Given the description of an element on the screen output the (x, y) to click on. 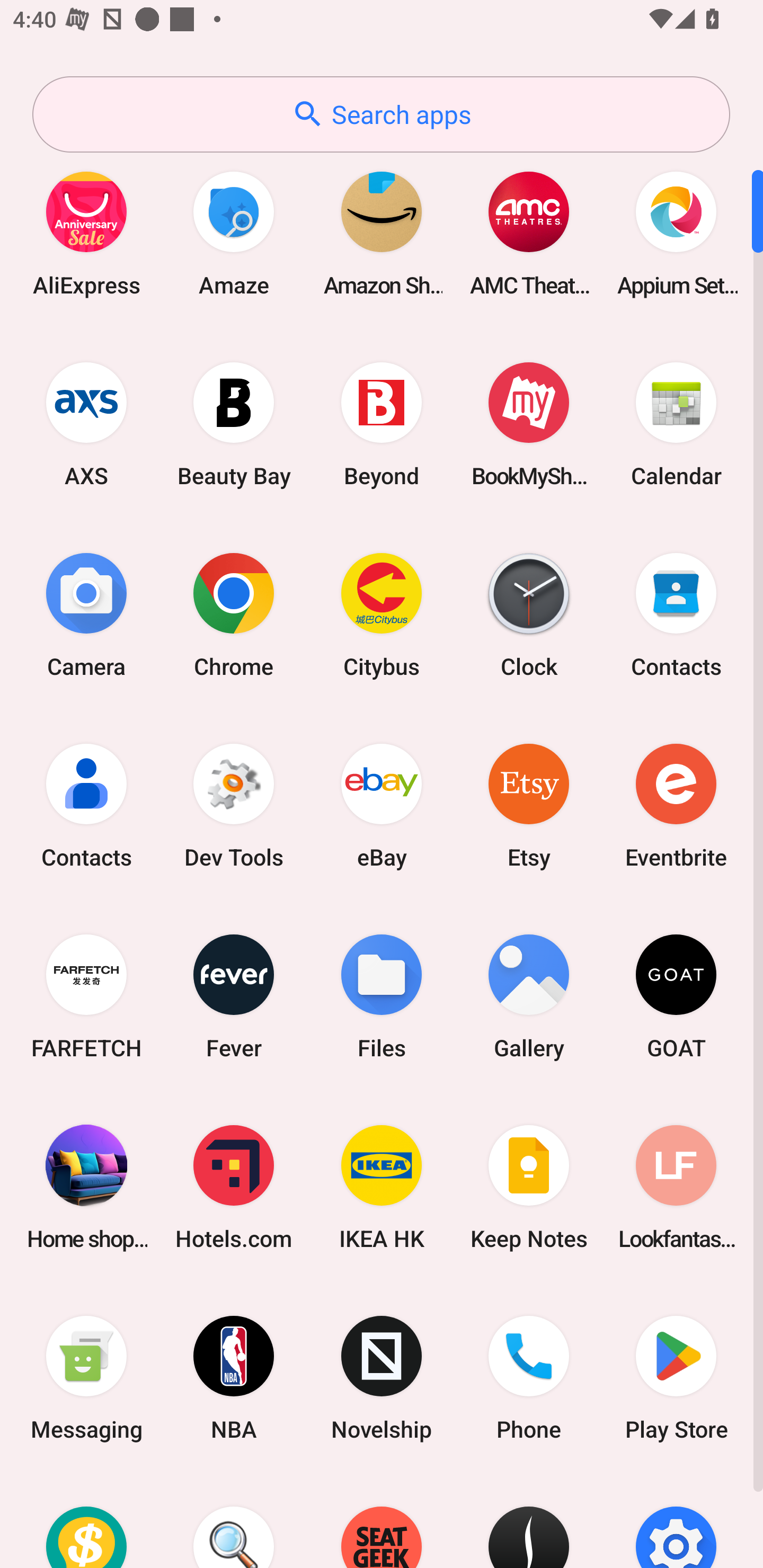
  Search apps (381, 114)
AliExpress (86, 233)
Amaze (233, 233)
Amazon Shopping (381, 233)
AMC Theatres (528, 233)
Appium Settings (676, 233)
AXS (86, 424)
Beauty Bay (233, 424)
Beyond (381, 424)
BookMyShow (528, 424)
Calendar (676, 424)
Camera (86, 614)
Chrome (233, 614)
Citybus (381, 614)
Clock (528, 614)
Contacts (676, 614)
Contacts (86, 805)
Dev Tools (233, 805)
eBay (381, 805)
Etsy (528, 805)
Eventbrite (676, 805)
FARFETCH (86, 996)
Fever (233, 996)
Files (381, 996)
Gallery (528, 996)
GOAT (676, 996)
Home shopping (86, 1186)
Hotels.com (233, 1186)
IKEA HK (381, 1186)
Keep Notes (528, 1186)
Lookfantastic (676, 1186)
Messaging (86, 1377)
NBA (233, 1377)
Novelship (381, 1377)
Phone (528, 1377)
Play Store (676, 1377)
Price (86, 1520)
Search (233, 1520)
SeatGeek (381, 1520)
Sephora (528, 1520)
Settings (676, 1520)
